Given the description of an element on the screen output the (x, y) to click on. 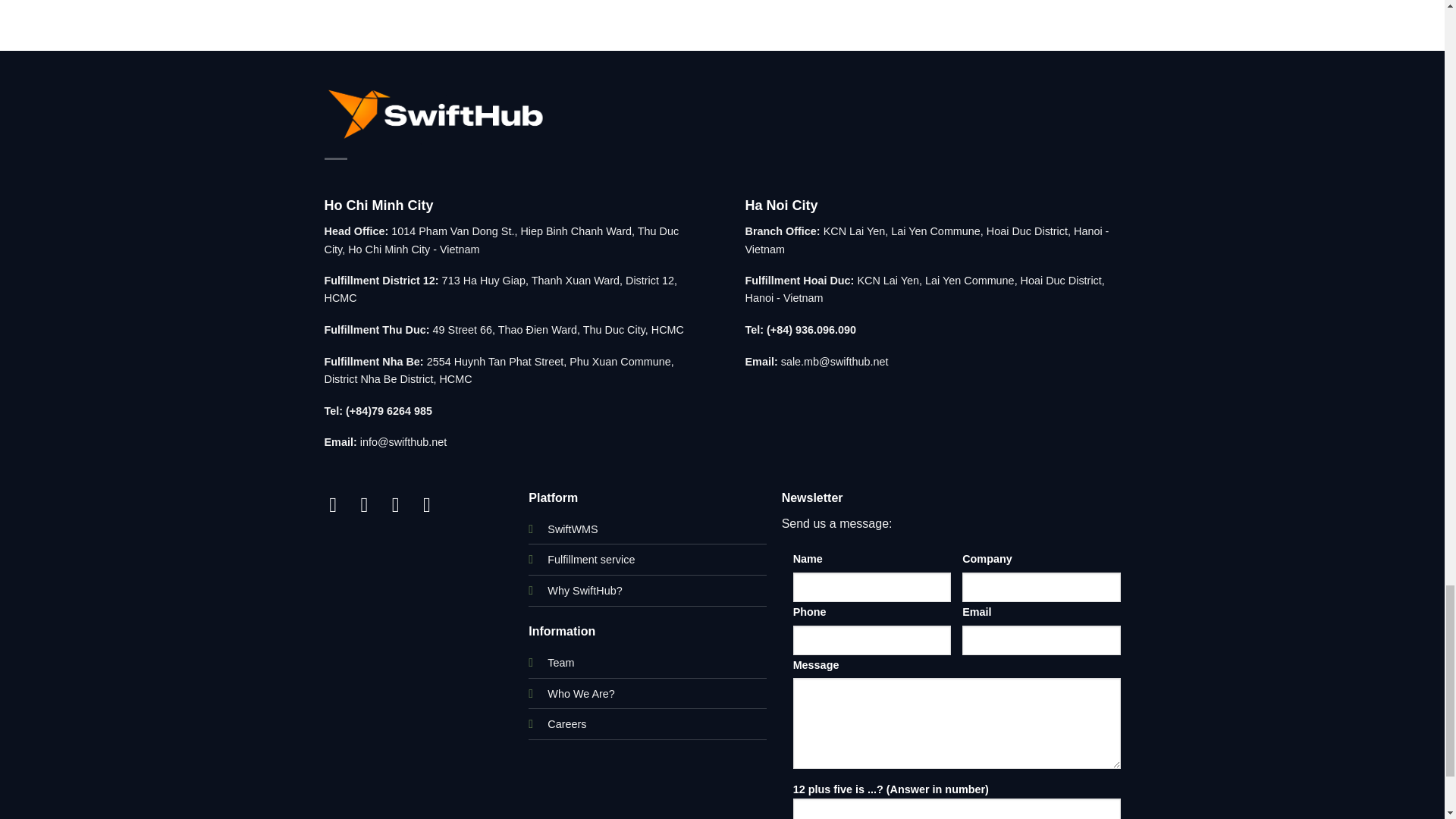
SwiftWMS (571, 529)
Fulfillment service (590, 559)
Why SwiftHub? (584, 590)
